Given the description of an element on the screen output the (x, y) to click on. 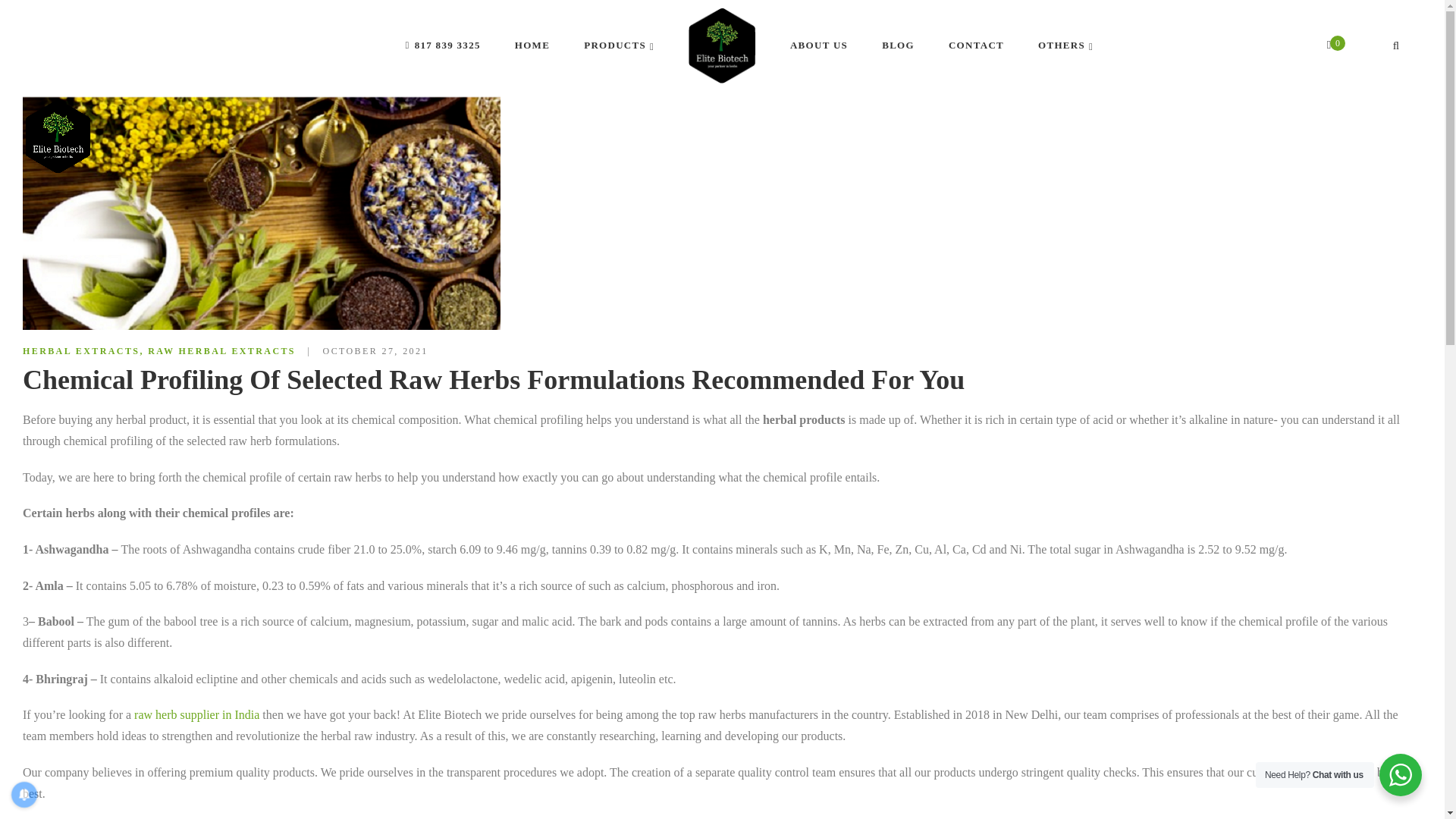
ABOUT US (818, 45)
HERBAL EXTRACTS (81, 350)
raw herb supplier in India (196, 714)
CONTACT (976, 45)
BLOG (898, 45)
817 839 3325 (440, 45)
OTHERS (1065, 45)
RAW HERBAL EXTRACTS (221, 350)
PRODUCTS (618, 45)
HOME (532, 45)
